Given the description of an element on the screen output the (x, y) to click on. 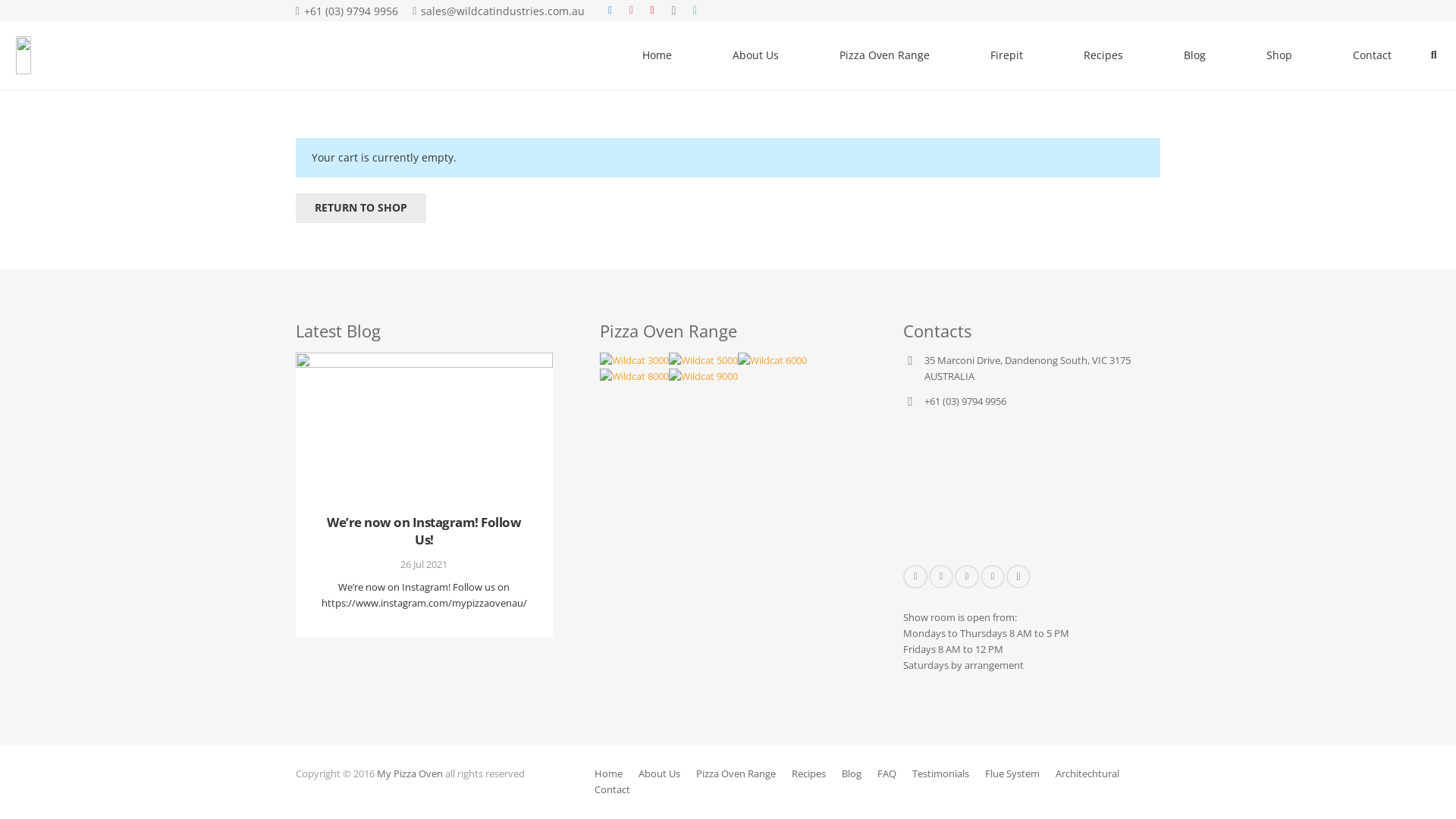
Flue System Element type: text (1012, 773)
Email Element type: hover (915, 576)
Home Element type: text (656, 55)
My Pizza Oven Element type: text (409, 773)
Recipes Element type: text (808, 773)
Recipes Element type: text (1103, 55)
Instagram Element type: hover (673, 10)
Architechtural Element type: text (1087, 773)
YouTube Element type: hover (652, 10)
About Us Element type: text (755, 55)
About Us Element type: text (659, 773)
Testimonials Element type: text (940, 773)
RETURN TO SHOP Element type: text (360, 207)
Contact Element type: text (612, 789)
Title Element type: hover (695, 10)
Pizza Oven Range Element type: text (884, 55)
Home Element type: text (608, 773)
Instagram Element type: hover (1018, 576)
Contact Element type: text (1371, 55)
Google Element type: hover (631, 10)
Google Element type: hover (966, 576)
Blog Element type: text (851, 773)
Firepit Element type: text (1006, 55)
Facebook Element type: hover (940, 576)
Facebook Element type: hover (610, 10)
YouTube Element type: hover (992, 576)
Shop Element type: text (1279, 55)
FAQ Element type: text (886, 773)
Pizza Oven Range Element type: text (735, 773)
Blog Element type: text (1194, 55)
